Given the description of an element on the screen output the (x, y) to click on. 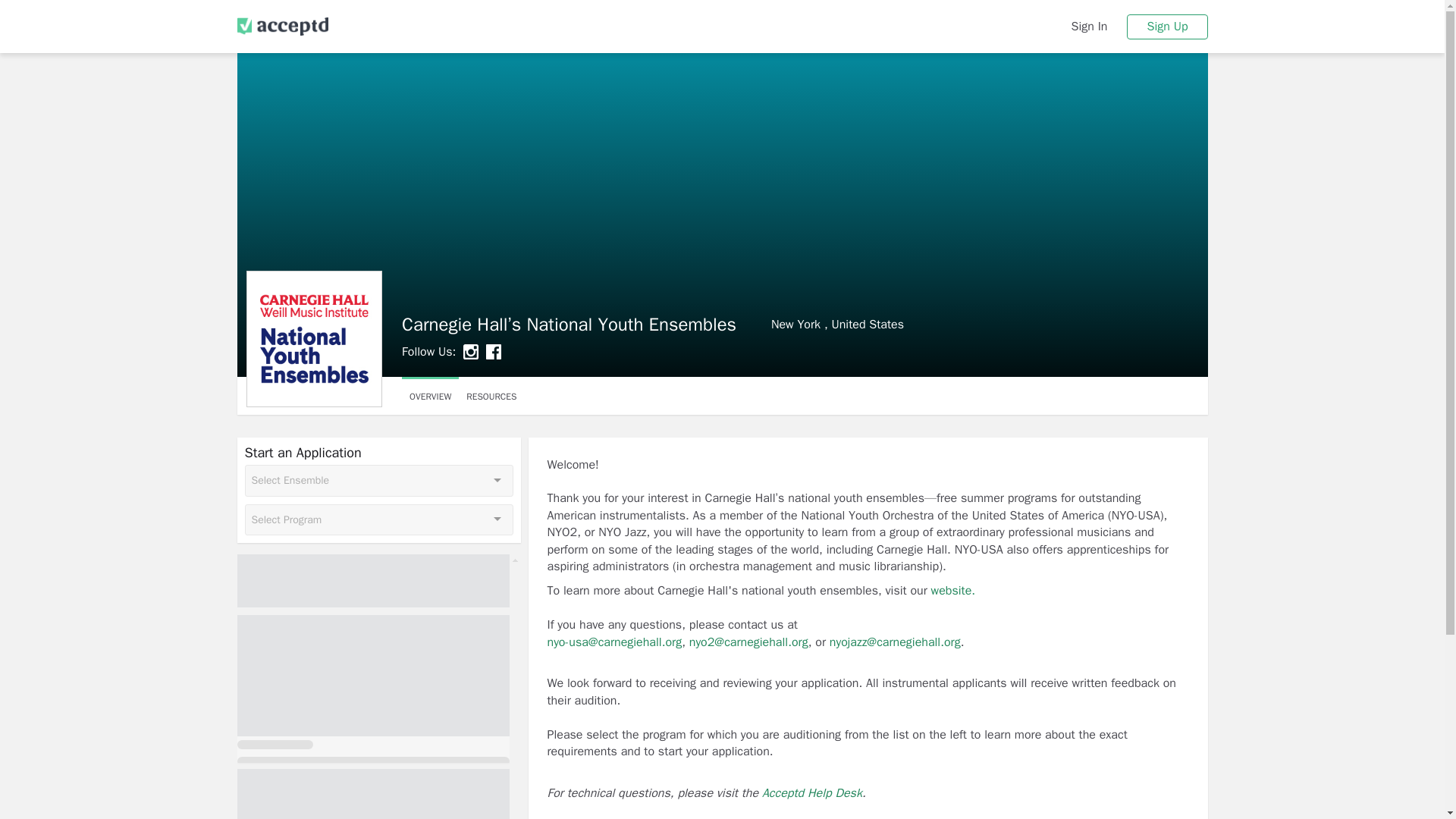
Website (429, 395)
Acceptd Help Desk (539, 351)
Facebook (811, 792)
YouTube (493, 351)
New York , United States (516, 351)
Sign Up (831, 324)
Instagram (1166, 25)
website. (471, 351)
Sign In (1145, 599)
